Given the description of an element on the screen output the (x, y) to click on. 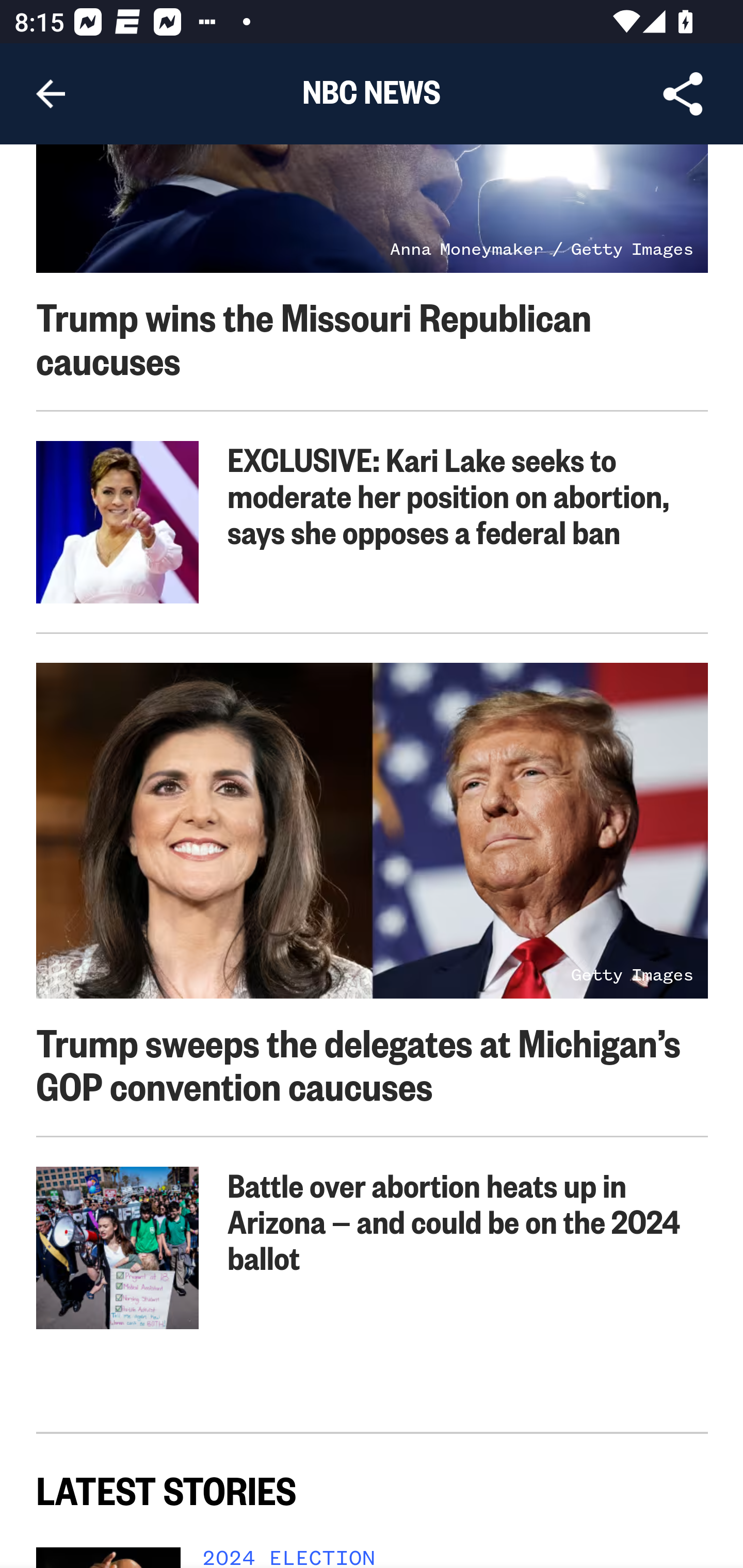
Navigate up (50, 93)
Share Article, button (683, 94)
Trump wins the Missouri Republican caucuses (314, 337)
March for Life rally in Phoenix  (117, 1247)
2024 ELECTION 2024 ELECTION 2024 ELECTION (448, 1557)
